Given the description of an element on the screen output the (x, y) to click on. 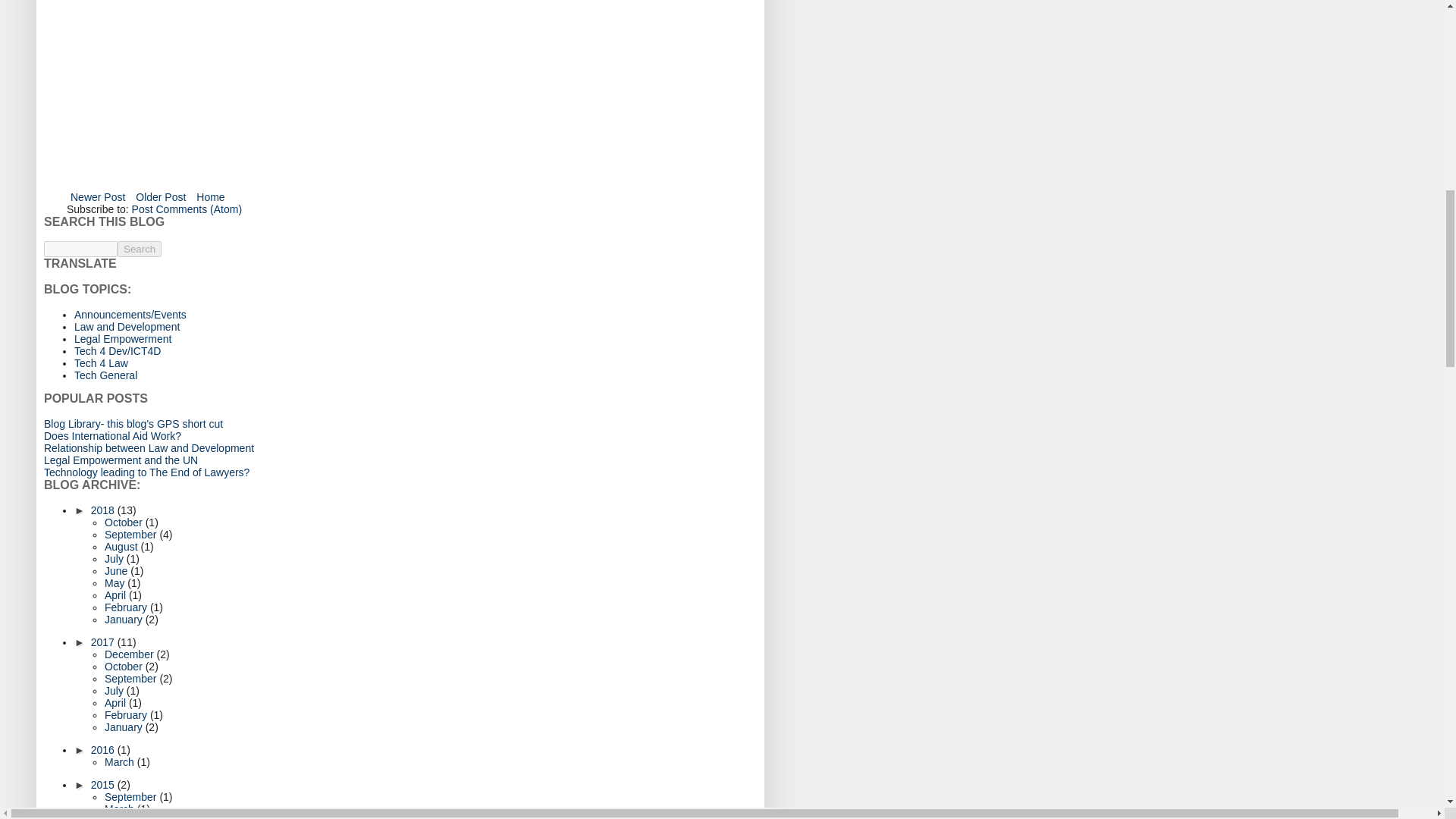
Legal Empowerment (122, 338)
Older Post (160, 197)
search (80, 248)
Does International Aid Work? (111, 435)
Search (139, 248)
Tech General (105, 375)
Legal Empowerment and the UN (120, 460)
Older Post (160, 197)
Technology leading to The End of Lawyers? (145, 472)
Tech 4 Law (101, 363)
Law and Development (126, 326)
Search (139, 248)
Blog Library- this blog's GPS short cut (132, 423)
Newer Post (97, 197)
Search (139, 248)
